Given the description of an element on the screen output the (x, y) to click on. 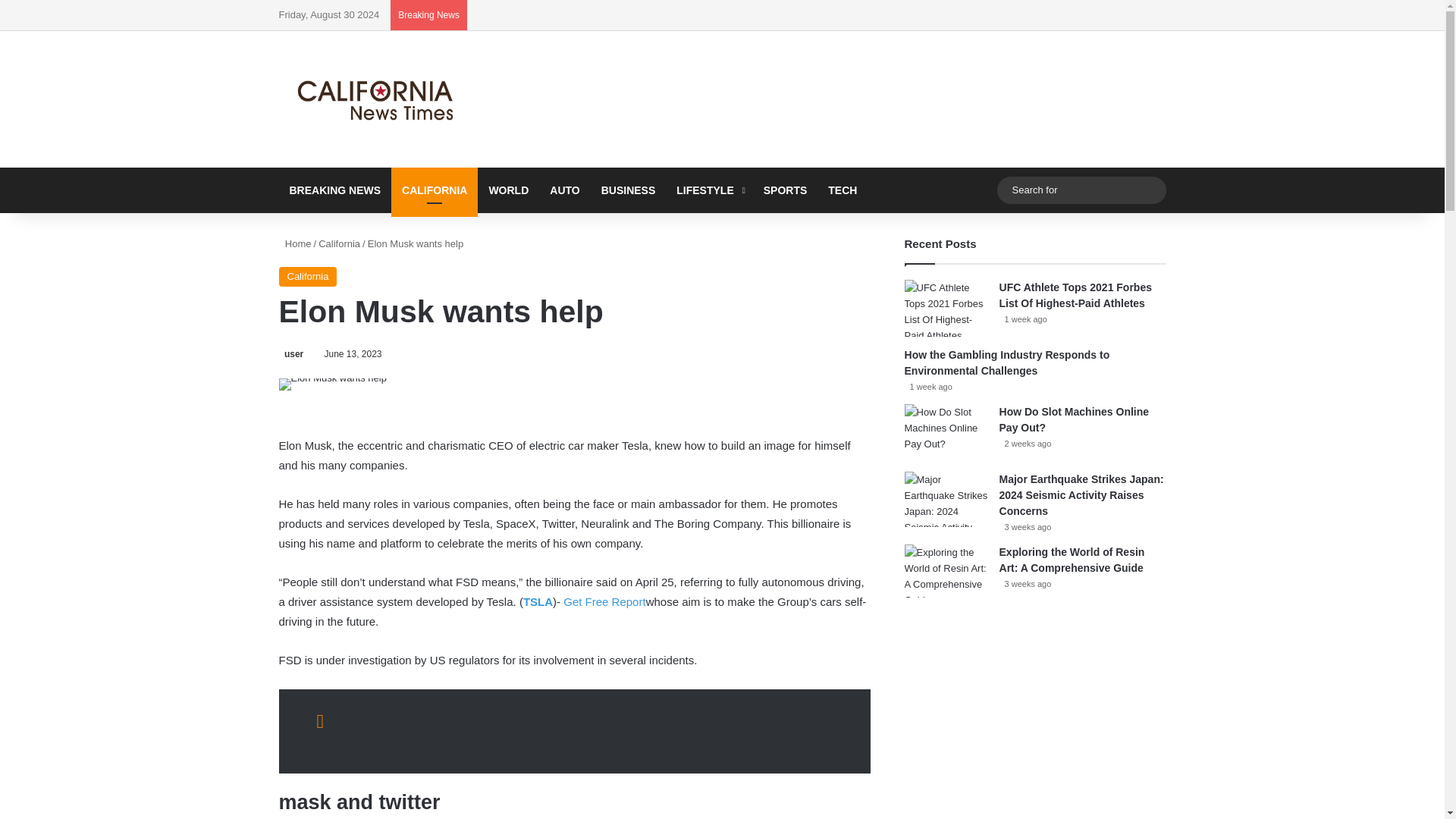
TECH (841, 189)
AUTO (563, 189)
Californianewstimes.com (377, 99)
Search for (1080, 189)
BREAKING NEWS (335, 189)
Get Free Report (604, 601)
Home (295, 243)
California (308, 276)
user (291, 353)
California (338, 243)
